Given the description of an element on the screen output the (x, y) to click on. 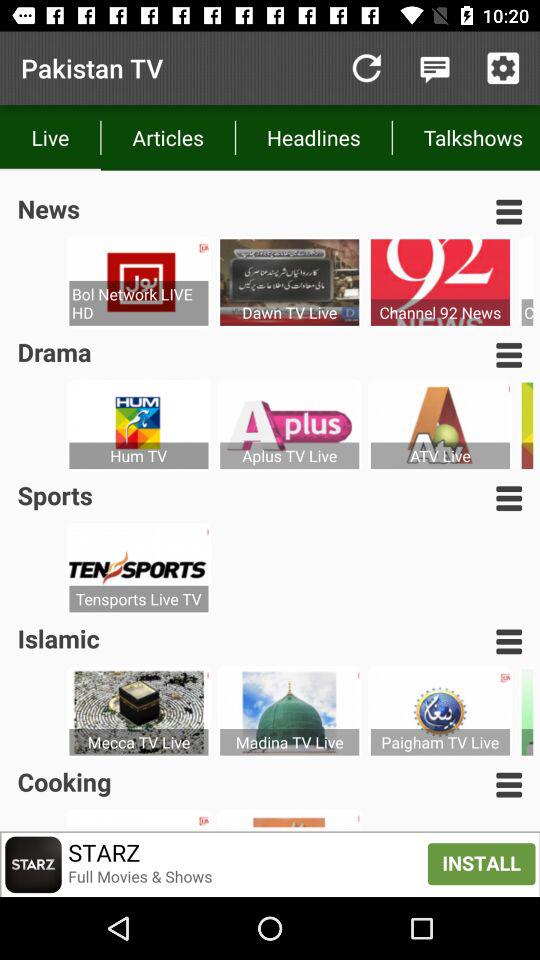
open the item next to the articles (366, 67)
